Given the description of an element on the screen output the (x, y) to click on. 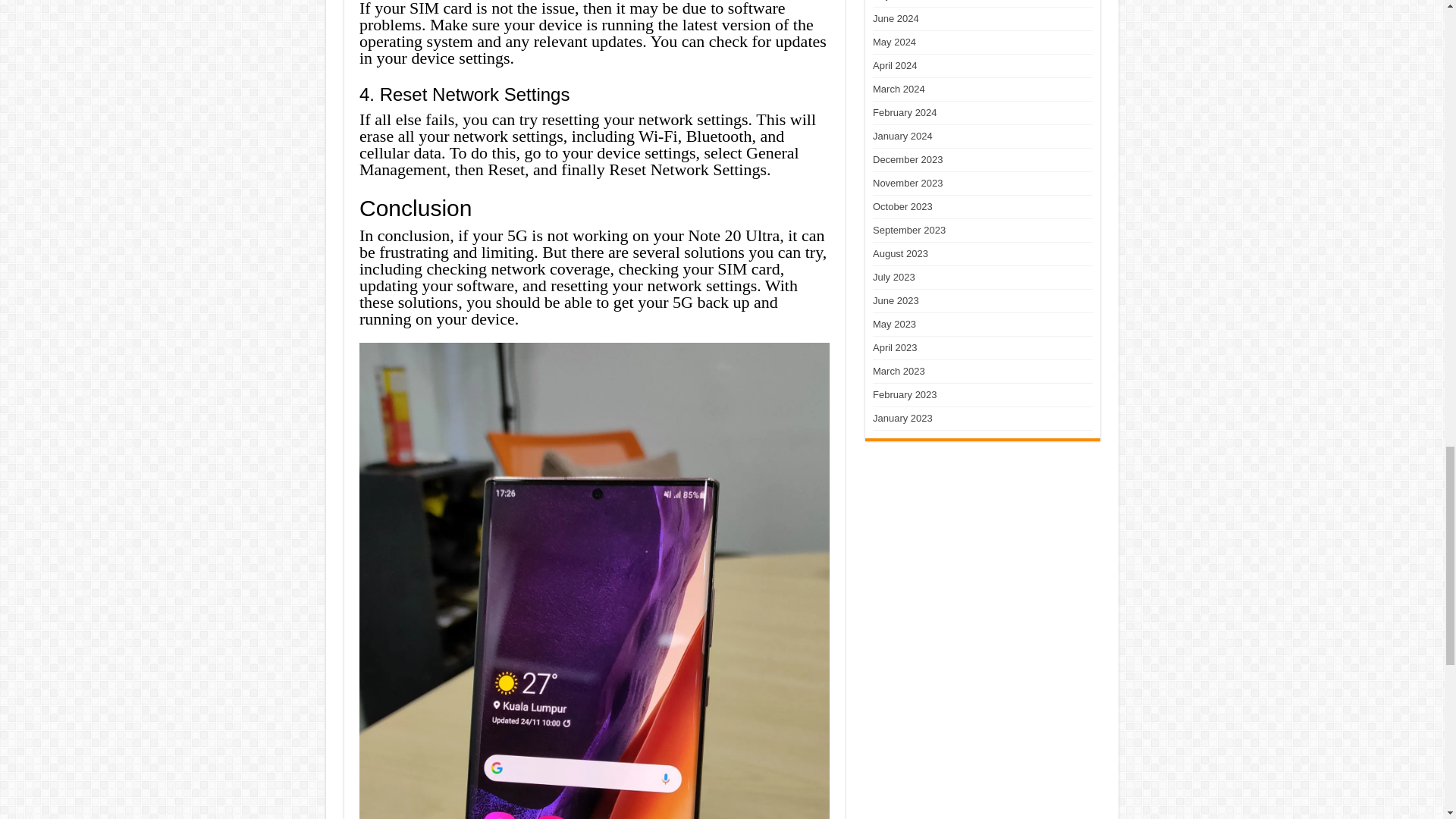
April 2024 (894, 65)
May 2024 (893, 41)
July 2024 (893, 0)
June 2024 (895, 18)
